Given the description of an element on the screen output the (x, y) to click on. 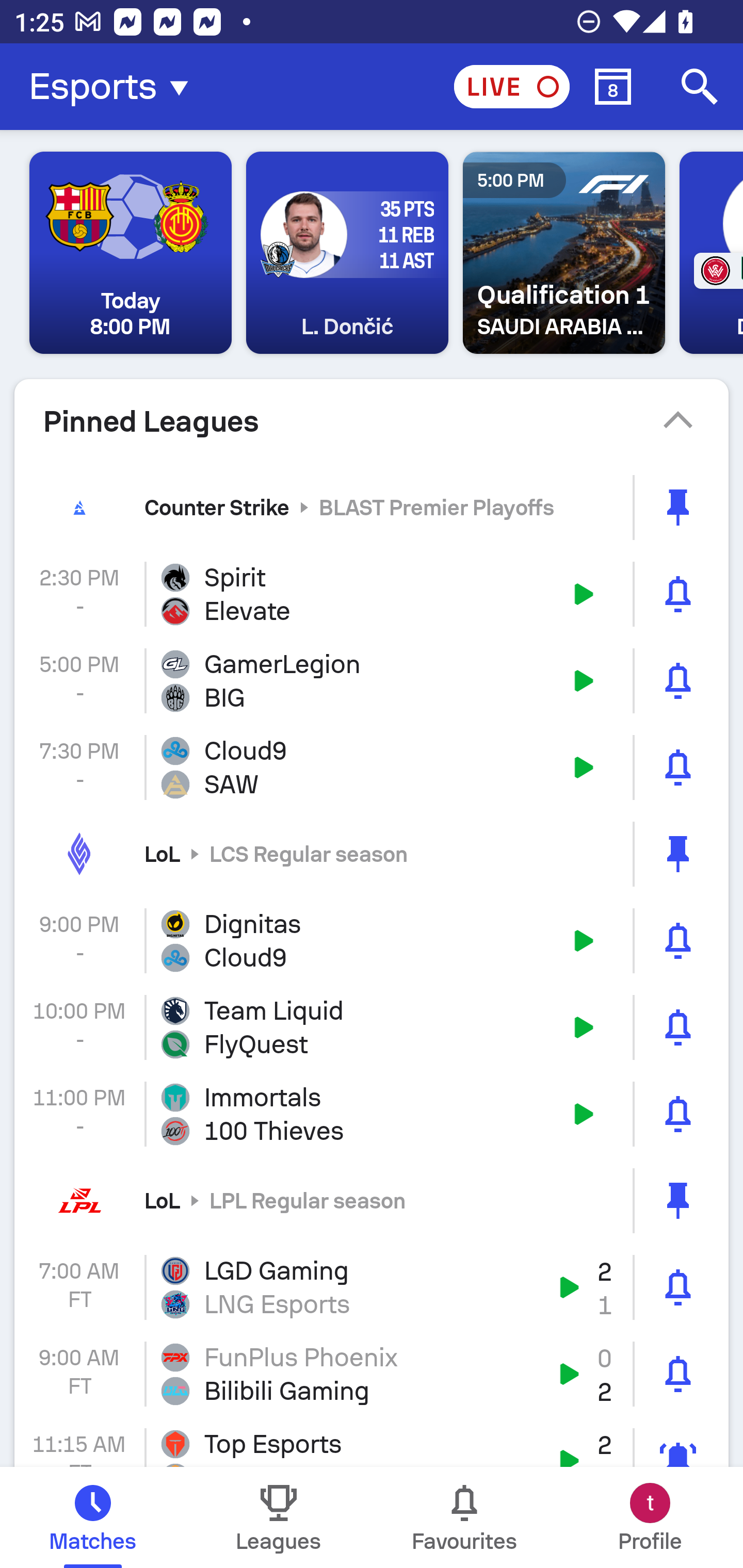
Esports (114, 86)
Calendar (612, 86)
Search (699, 86)
Today
8:00 PM (130, 253)
35 PTS
11 REB
11 AST L. Dončić (346, 253)
Pinned Leagues (371, 421)
Counter Strike BLAST Premier Playoffs (371, 507)
2:30 PM - Spirit Elevate (371, 594)
5:00 PM - GamerLegion BIG (371, 681)
7:30 PM - Cloud9 SAW (371, 767)
LoL LCS Regular season (371, 853)
9:00 PM - Dignitas Cloud9 (371, 940)
10:00 PM - Team Liquid FlyQuest (371, 1027)
11:00 PM - Immortals 100 Thieves (371, 1113)
LoL LPL Regular season (371, 1200)
7:00 AM FT LGD Gaming LNG Esports 2 1 (371, 1287)
9:00 AM FT FunPlus Phoenix Bilibili Gaming 0 2 (371, 1374)
11:15 AM FT Top Esports Oh My God 2 0 (371, 1442)
Leagues (278, 1517)
Favourites (464, 1517)
Profile (650, 1517)
